Given the description of an element on the screen output the (x, y) to click on. 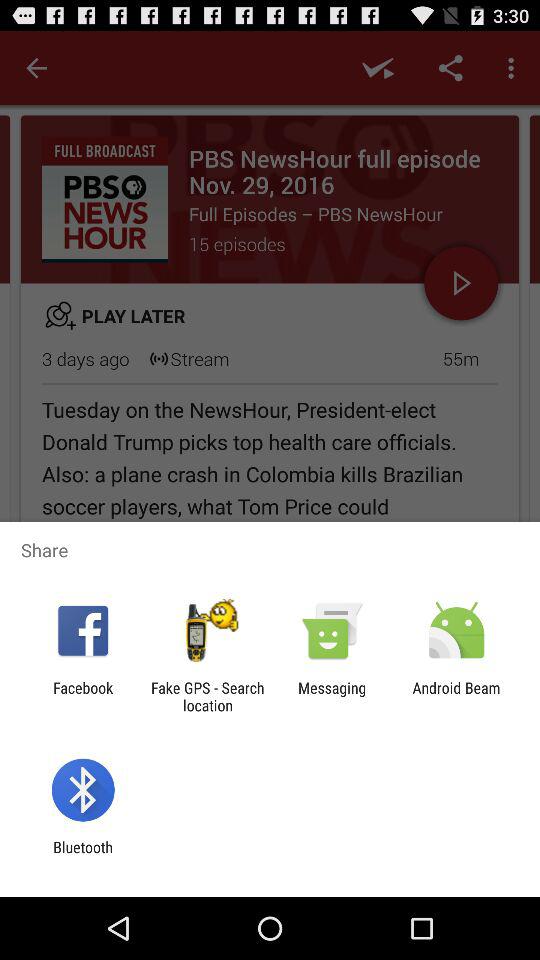
flip until facebook icon (83, 696)
